Given the description of an element on the screen output the (x, y) to click on. 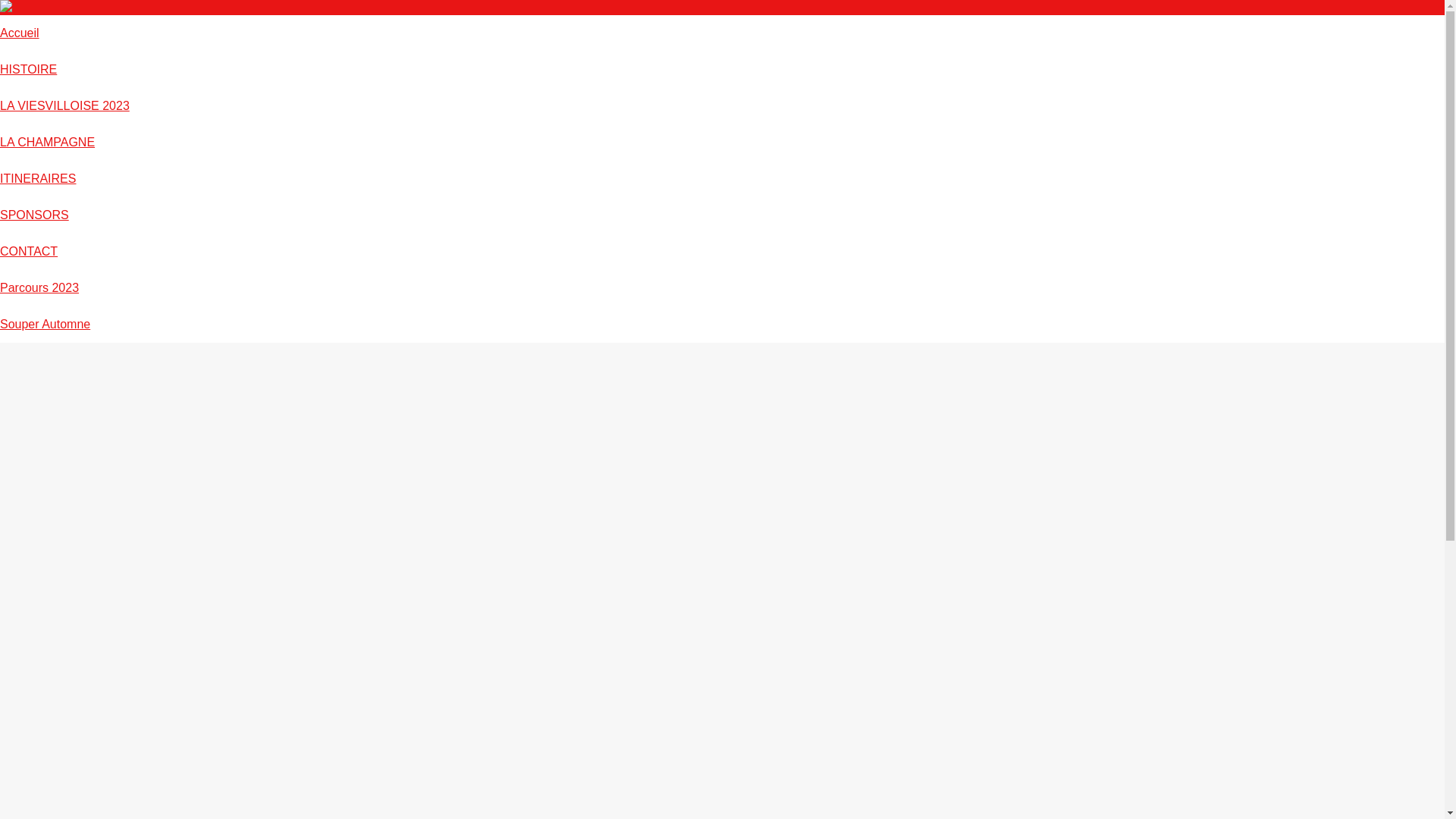
Parcours 2023 Element type: text (39, 287)
ITINERAIRES Element type: text (37, 178)
HISTOIRE Element type: text (28, 68)
Accueil Element type: text (19, 32)
CONTACT Element type: text (28, 250)
LA VIESVILLOISE 2023 Element type: text (64, 105)
Souper Automne Element type: text (45, 323)
SPONSORS Element type: text (34, 214)
LA CHAMPAGNE Element type: text (47, 141)
